Given the description of an element on the screen output the (x, y) to click on. 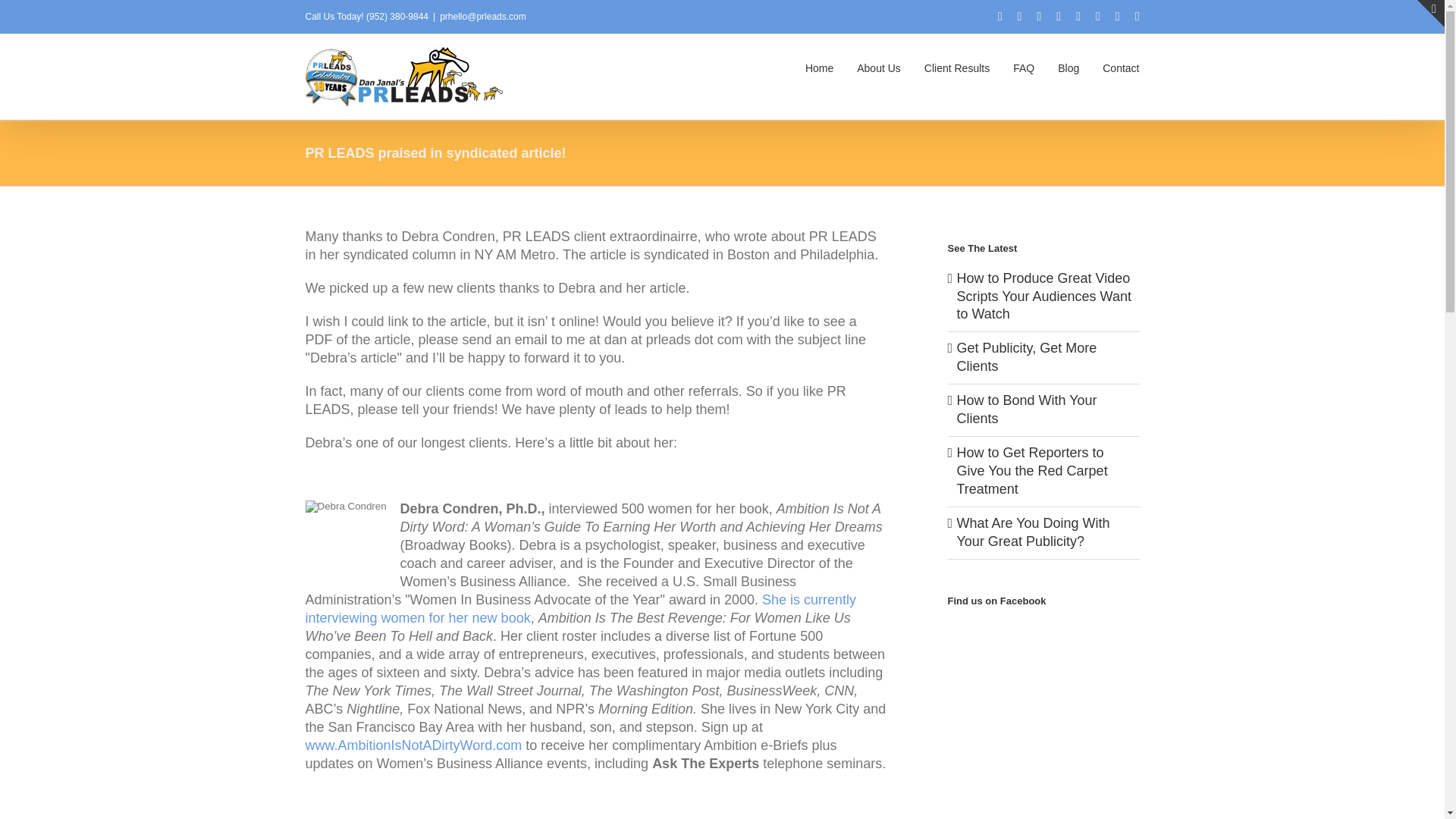
She is currently interviewing women for her new book (580, 608)
Client Results (957, 66)
www.AmbitionIsNotADirtyWord.com (412, 744)
